Given the description of an element on the screen output the (x, y) to click on. 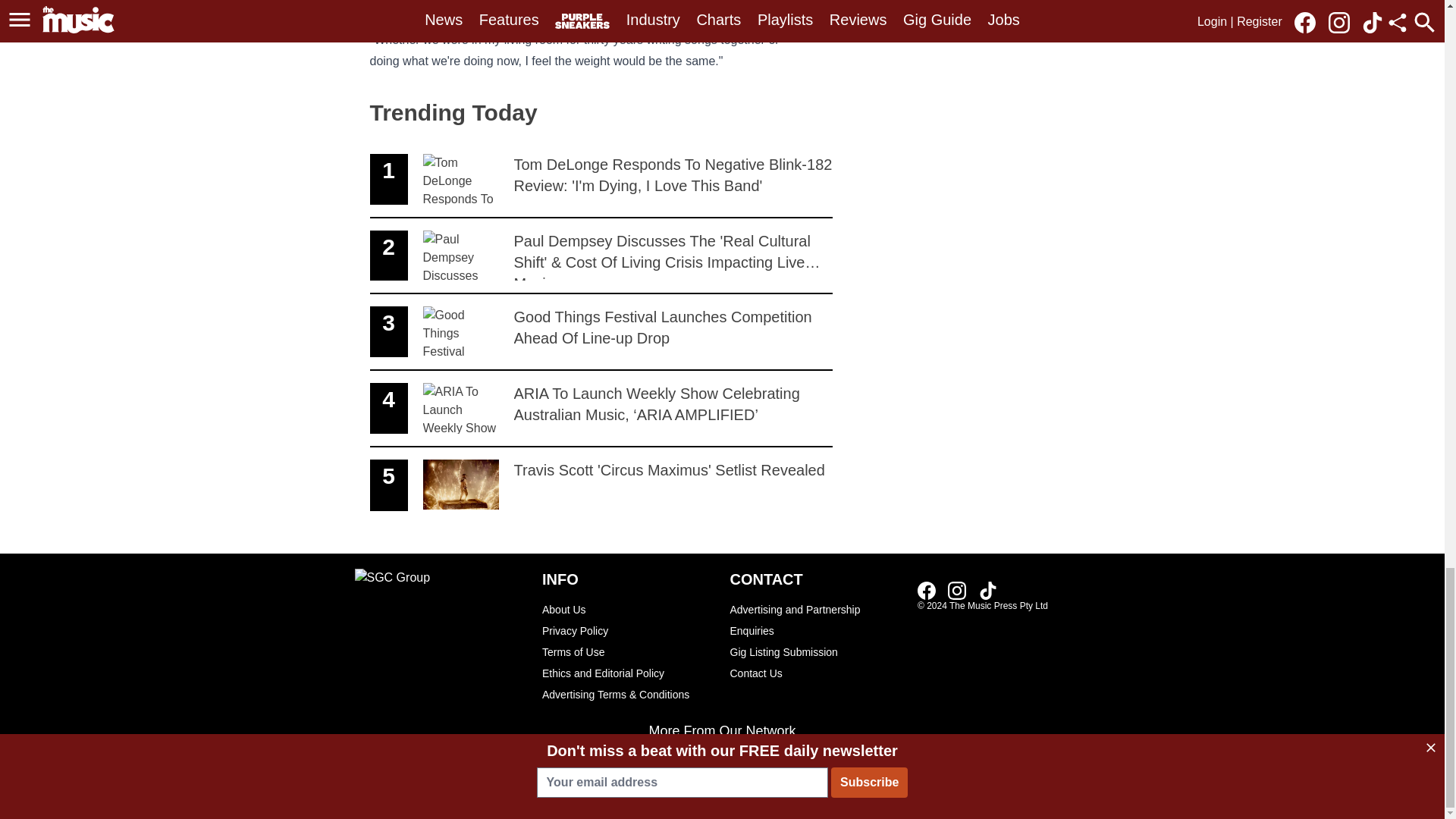
Ethics and Editorial Policy (627, 672)
Link to our Facebook (930, 589)
Link to our Instagram (956, 590)
Gig Listing Submission (815, 651)
Contact Us (815, 672)
About Us (627, 608)
Terms of Use (627, 651)
Link to our TikTok (987, 590)
